Given the description of an element on the screen output the (x, y) to click on. 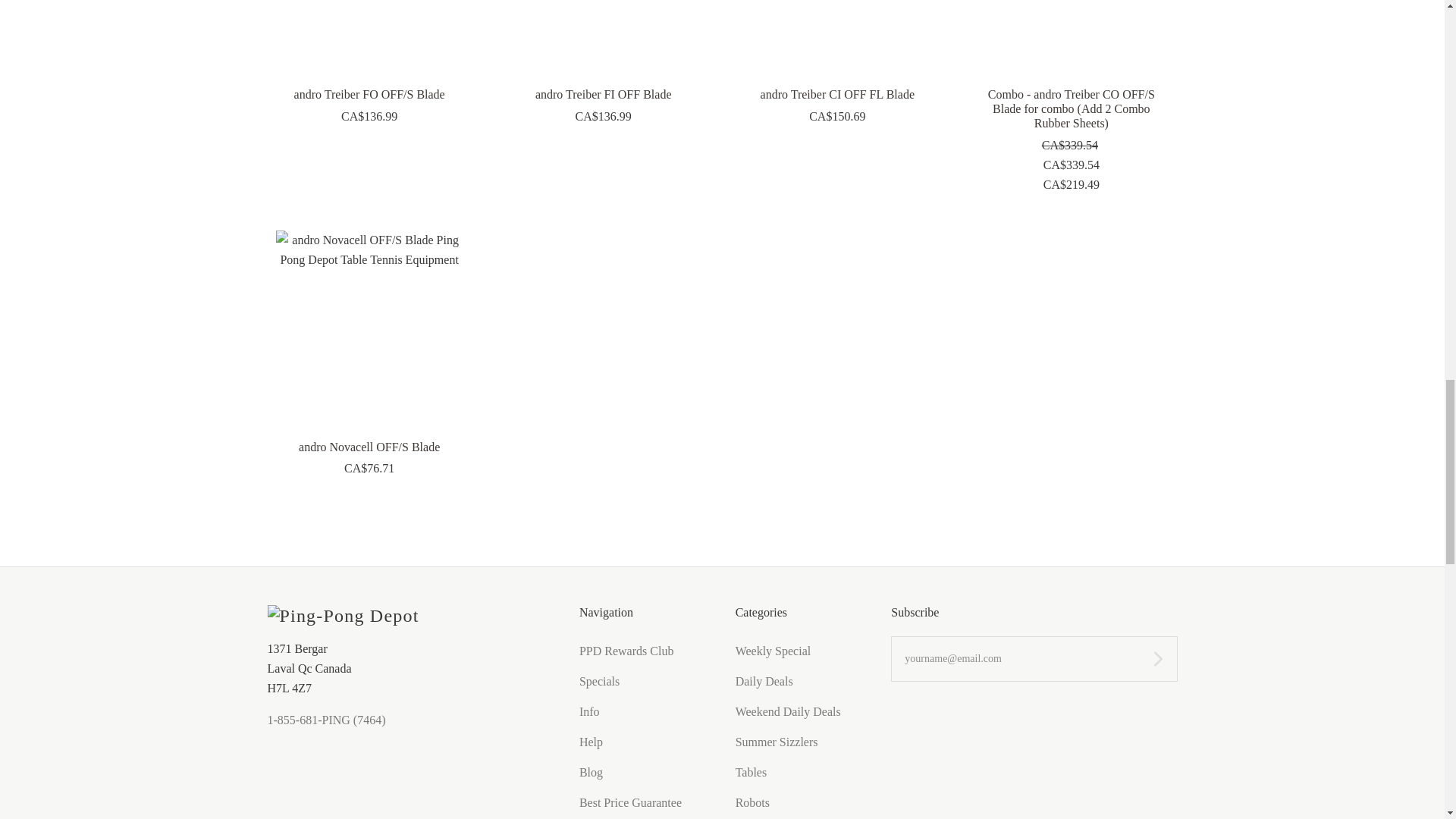
Ping-Pong Depot (342, 616)
